Given the description of an element on the screen output the (x, y) to click on. 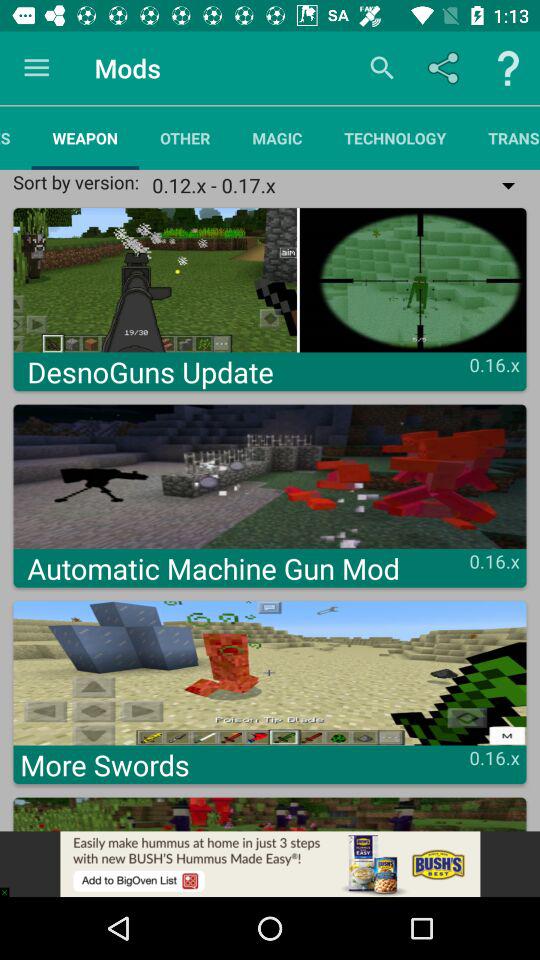
launch technology app (395, 137)
